Given the description of an element on the screen output the (x, y) to click on. 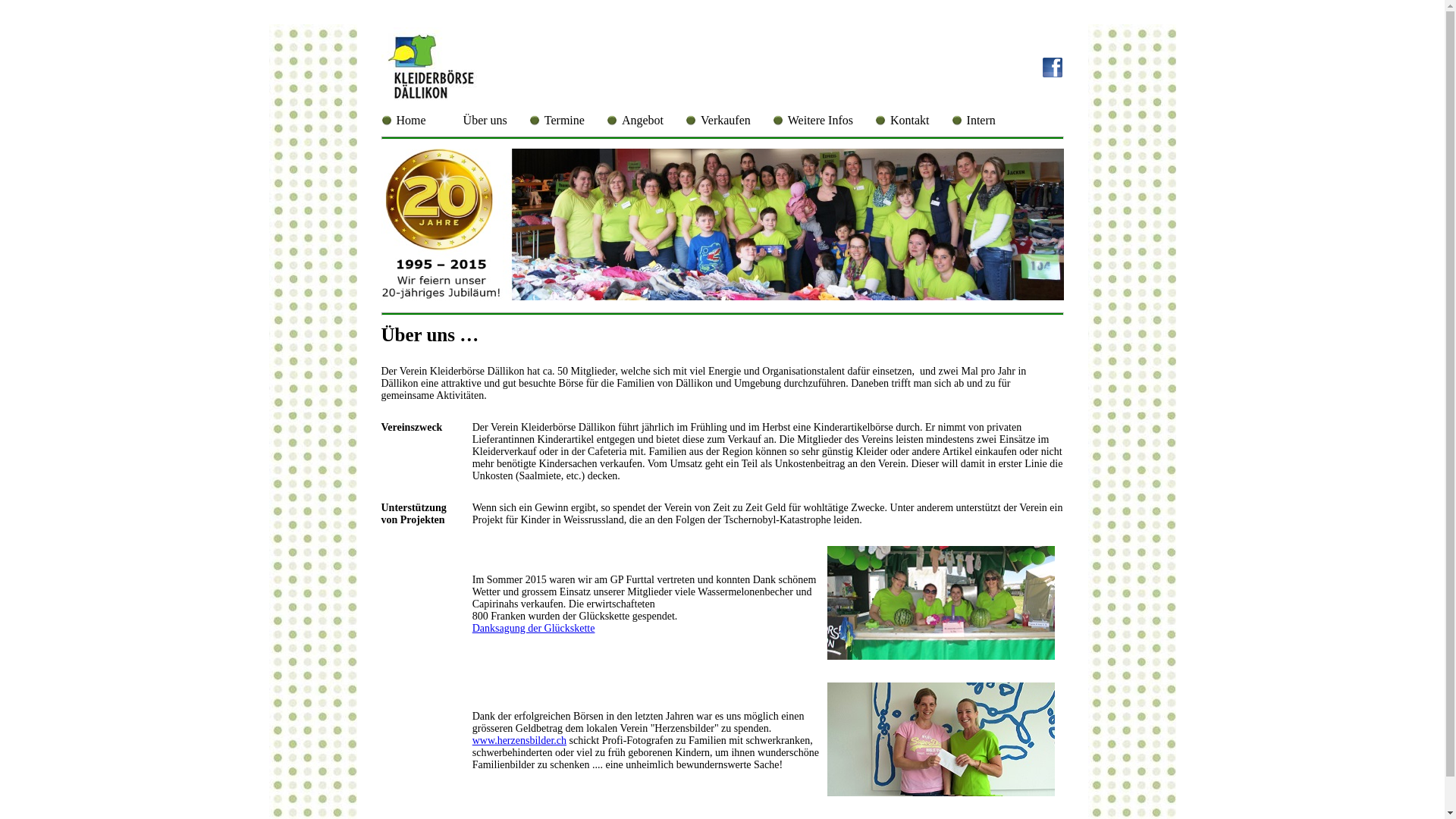
Termine Element type: text (564, 120)
Angebot Element type: text (642, 120)
www.herzensbilder.ch Element type: text (519, 740)
Kontakt Element type: text (909, 120)
Home Element type: text (410, 120)
Intern Element type: text (980, 120)
Verkaufen Element type: text (725, 120)
Weitere Infos Element type: text (820, 120)
